Given the description of an element on the screen output the (x, y) to click on. 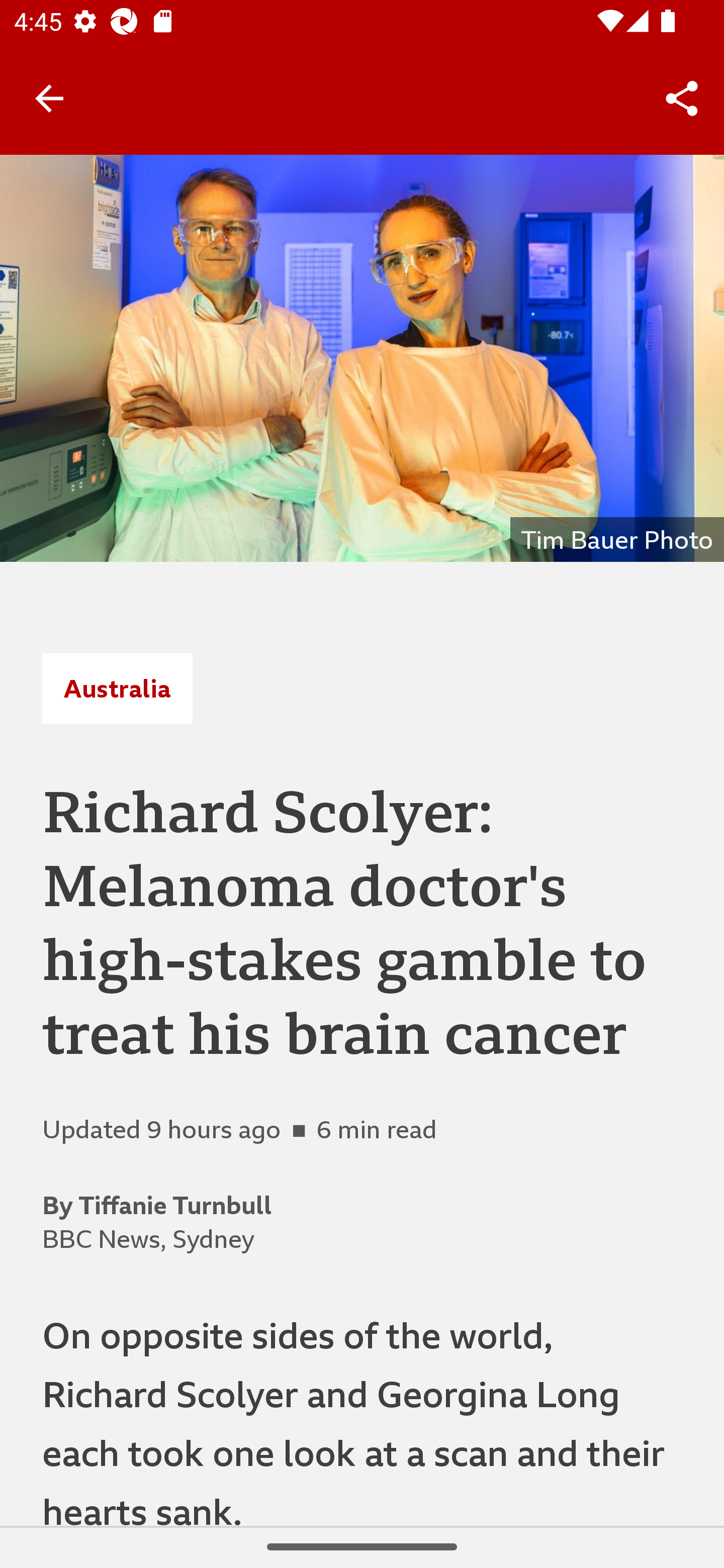
Back (49, 97)
Share (681, 98)
Richard Scolyer and Georgina Long (362, 358)
Australia (116, 688)
